Given the description of an element on the screen output the (x, y) to click on. 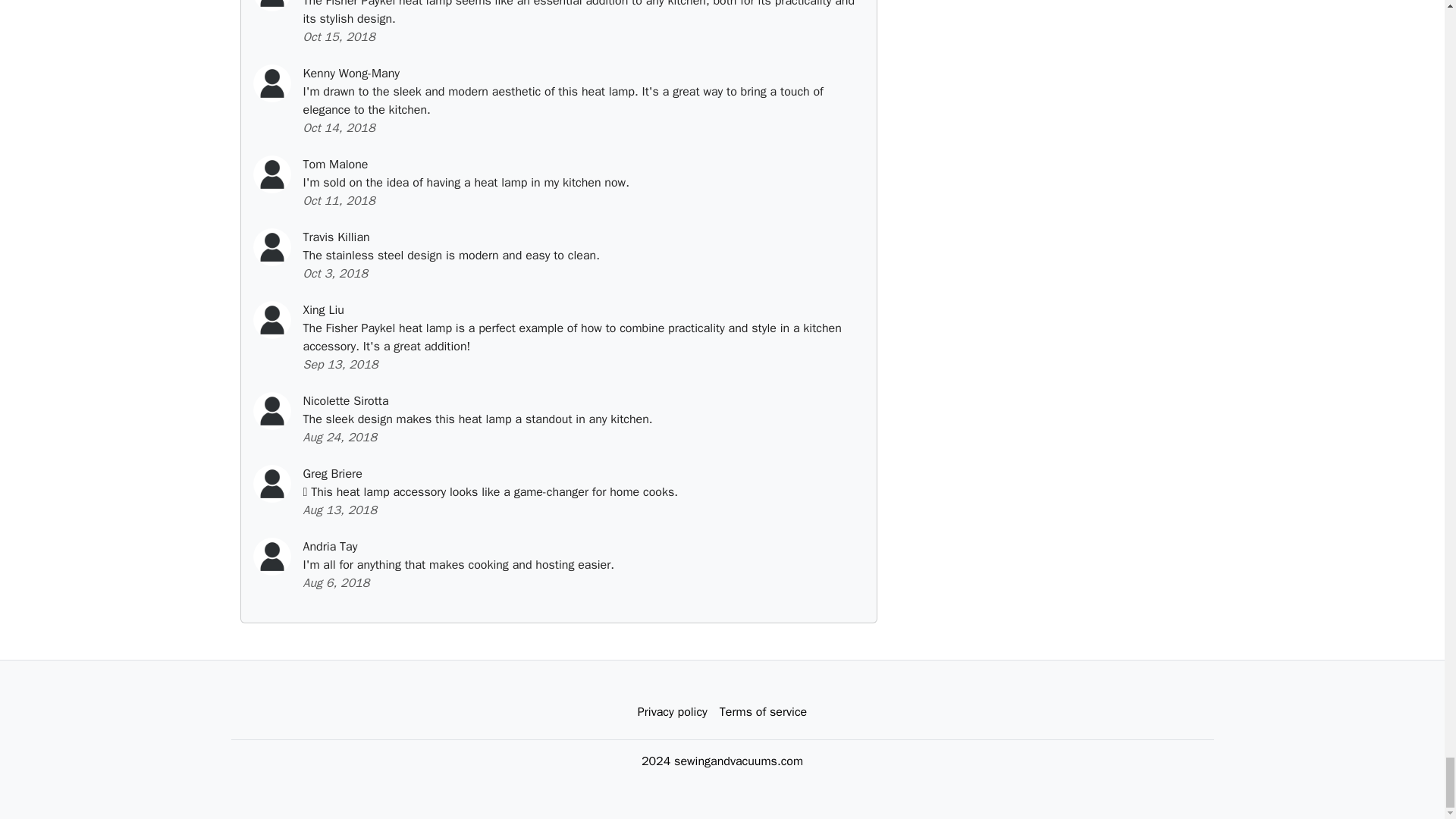
Terms of service (762, 711)
Privacy policy (672, 711)
